Given the description of an element on the screen output the (x, y) to click on. 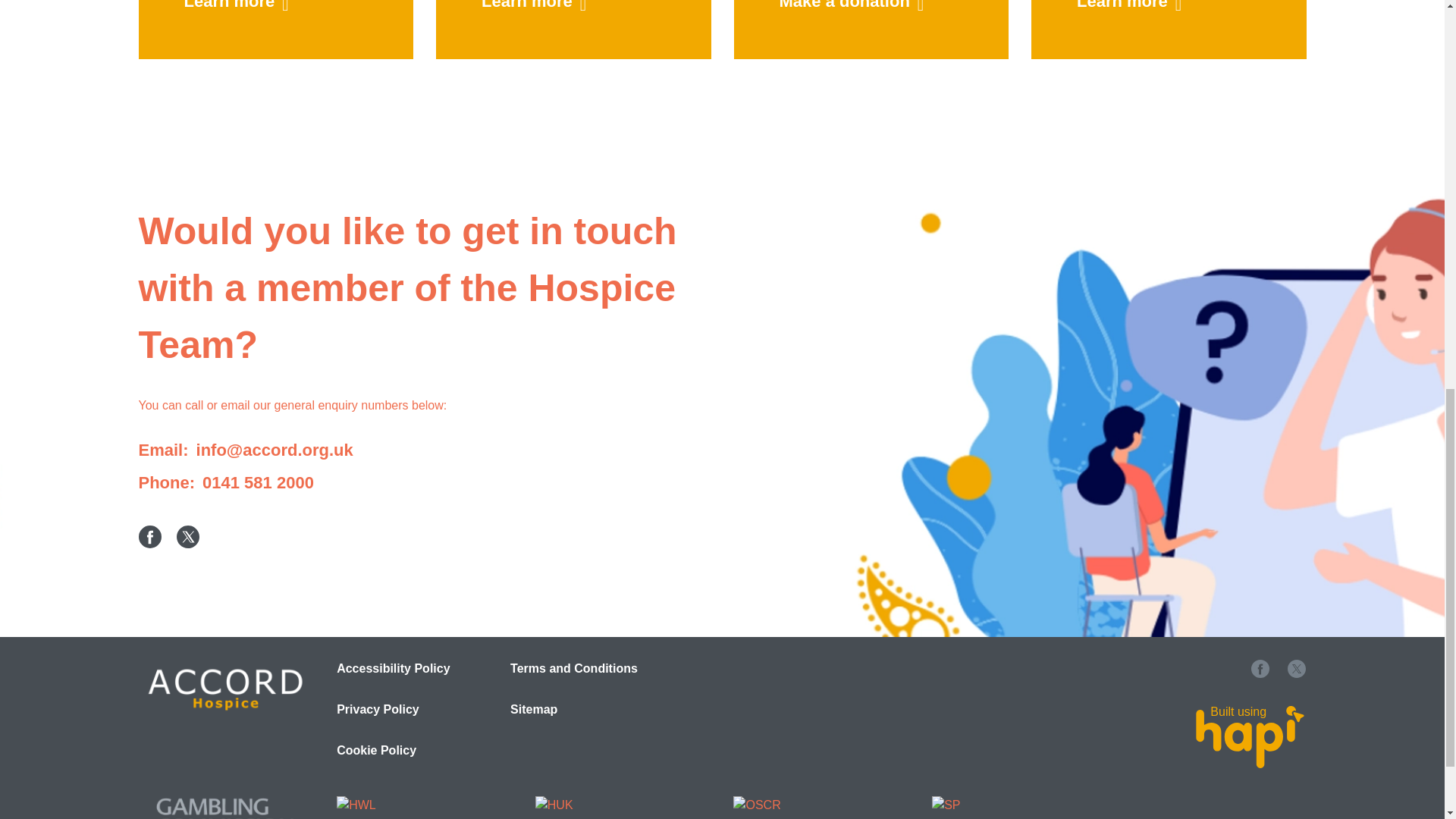
Built using (1249, 736)
